Given the description of an element on the screen output the (x, y) to click on. 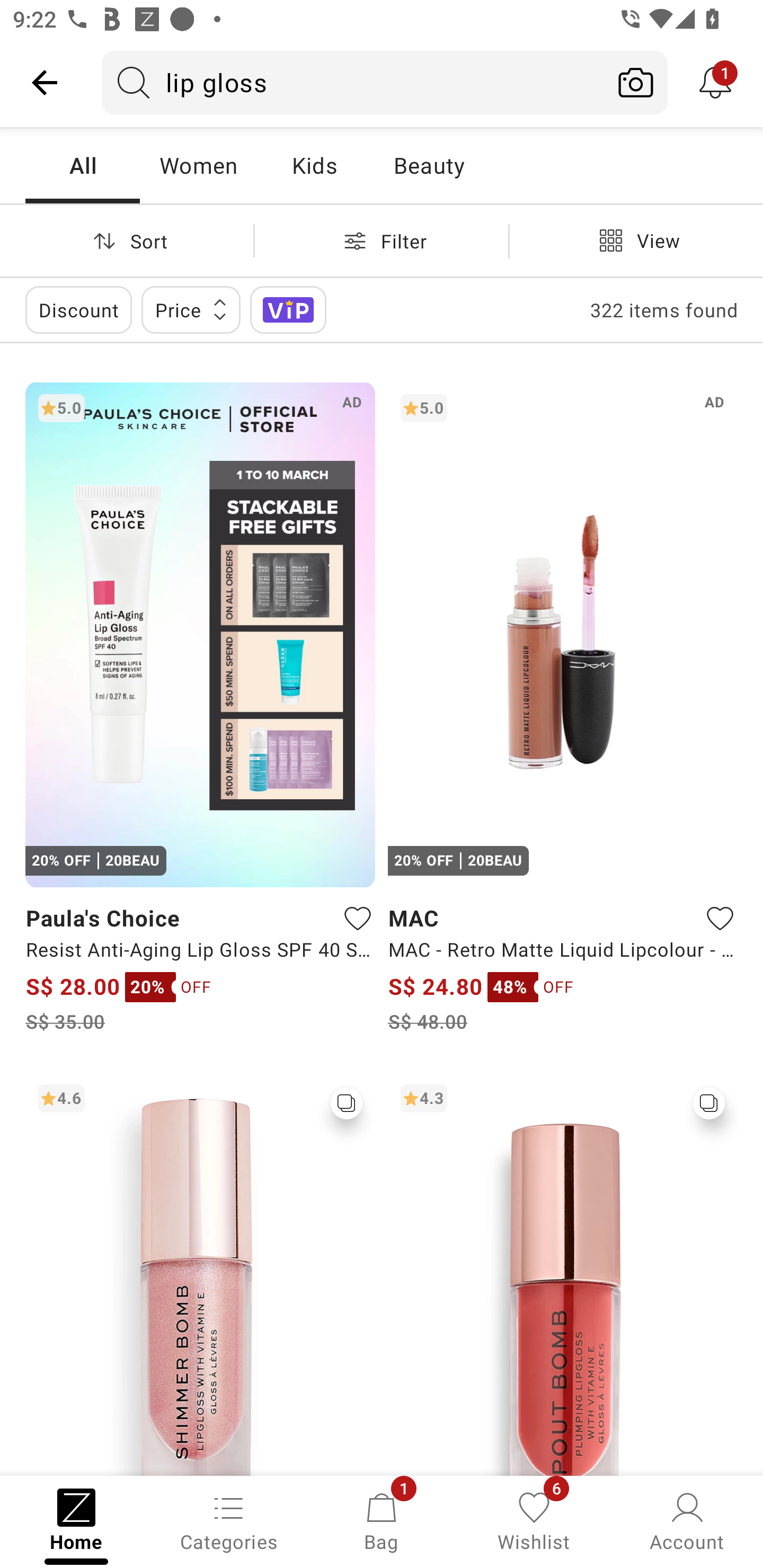
Navigate up (44, 82)
lip gloss (352, 82)
Women (198, 165)
Kids (314, 165)
Beauty (428, 165)
Sort (126, 240)
Filter (381, 240)
View (636, 240)
Discount (78, 309)
Price (190, 309)
4.6 (200, 1272)
4.3 (562, 1272)
Categories (228, 1519)
Bag, 1 new notification Bag (381, 1519)
Wishlist, 6 new notifications Wishlist (533, 1519)
Account (686, 1519)
